Given the description of an element on the screen output the (x, y) to click on. 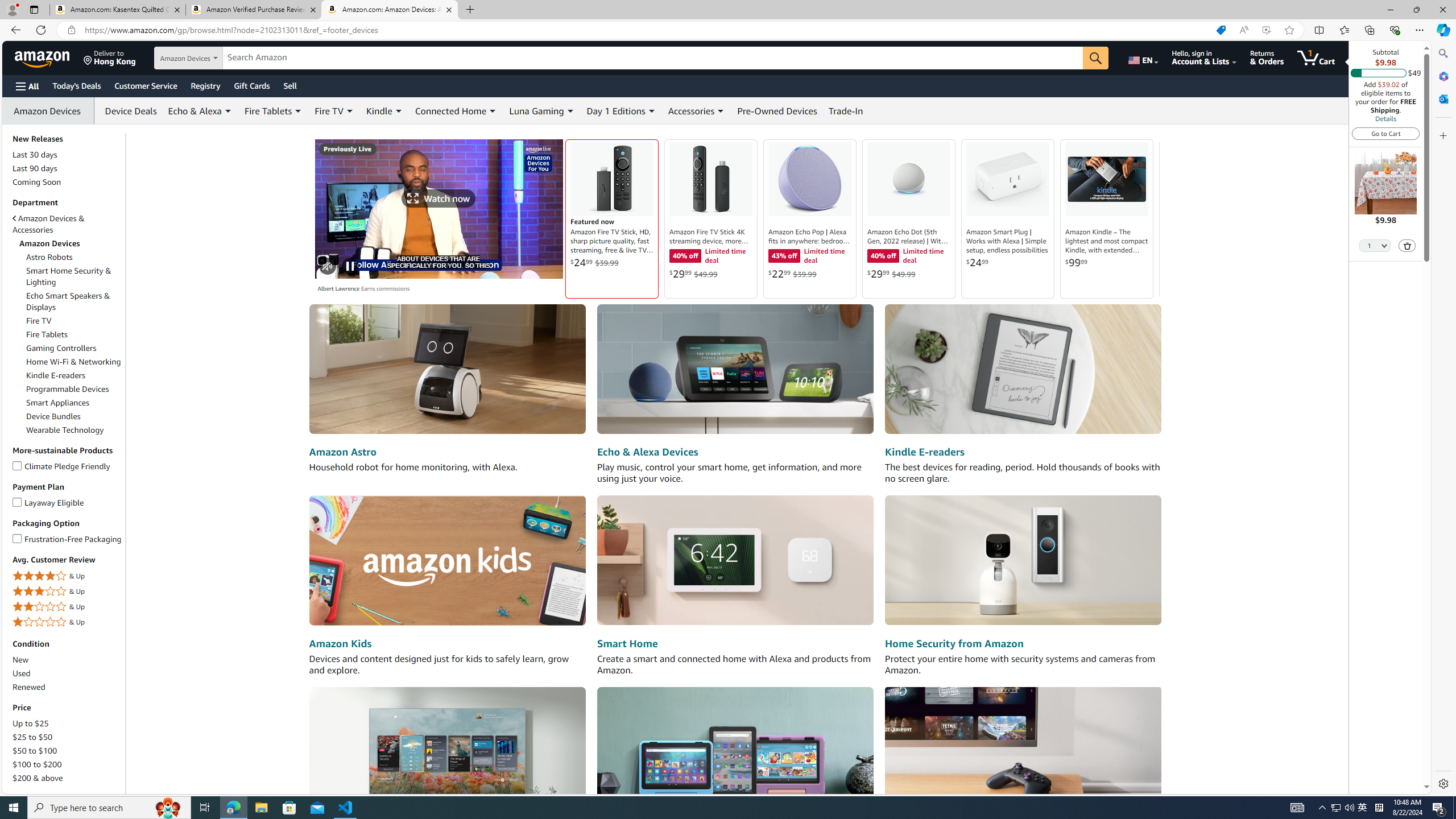
Wearable Technology (64, 429)
Connected Home (450, 110)
Astro Robots (74, 256)
Delete (1407, 245)
Expand Luna Gaming (569, 111)
